Given the description of an element on the screen output the (x, y) to click on. 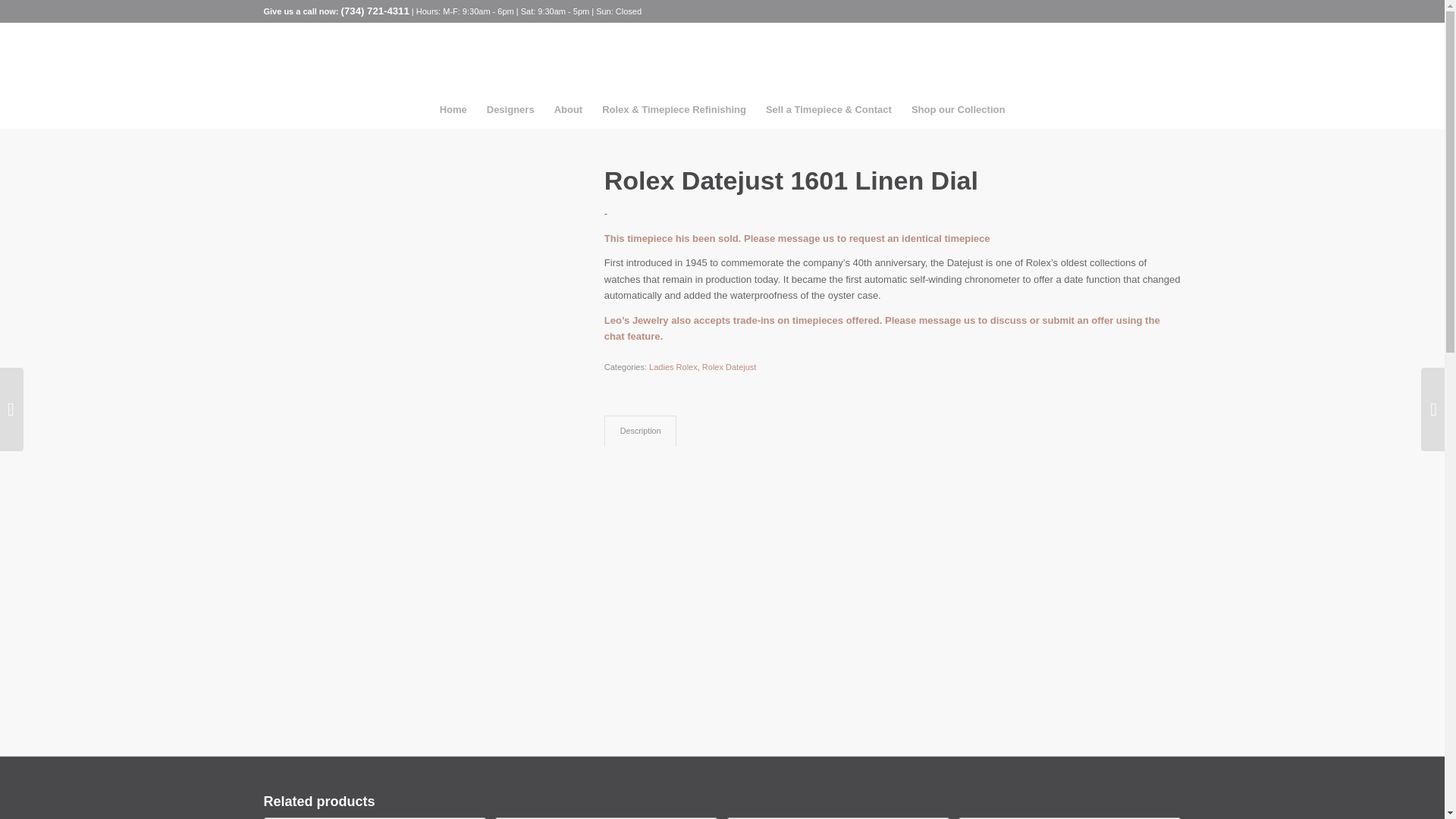
About (568, 109)
Designers (510, 109)
Home (453, 109)
